Given the description of an element on the screen output the (x, y) to click on. 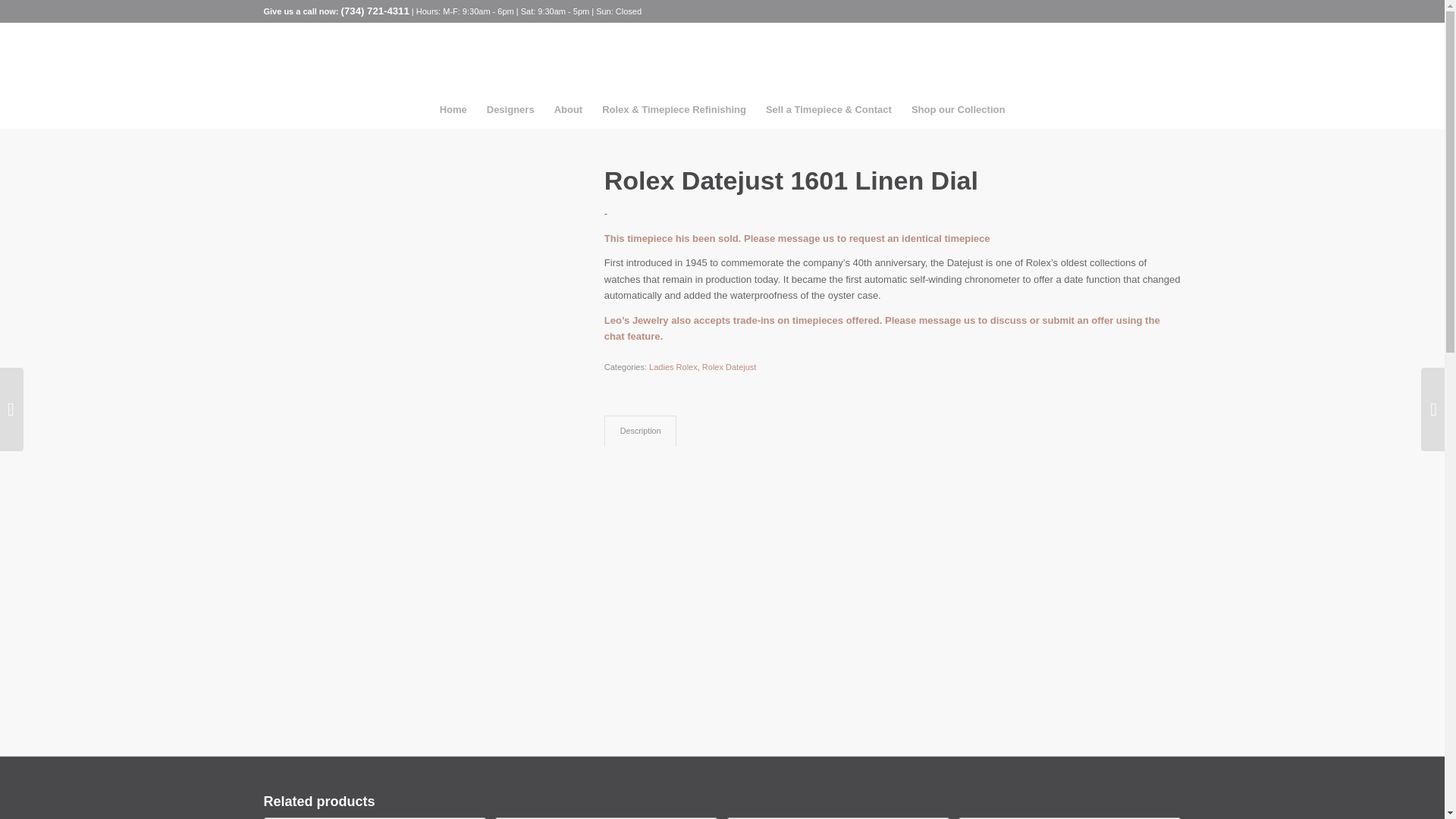
About (568, 109)
Designers (510, 109)
Home (453, 109)
